Given the description of an element on the screen output the (x, y) to click on. 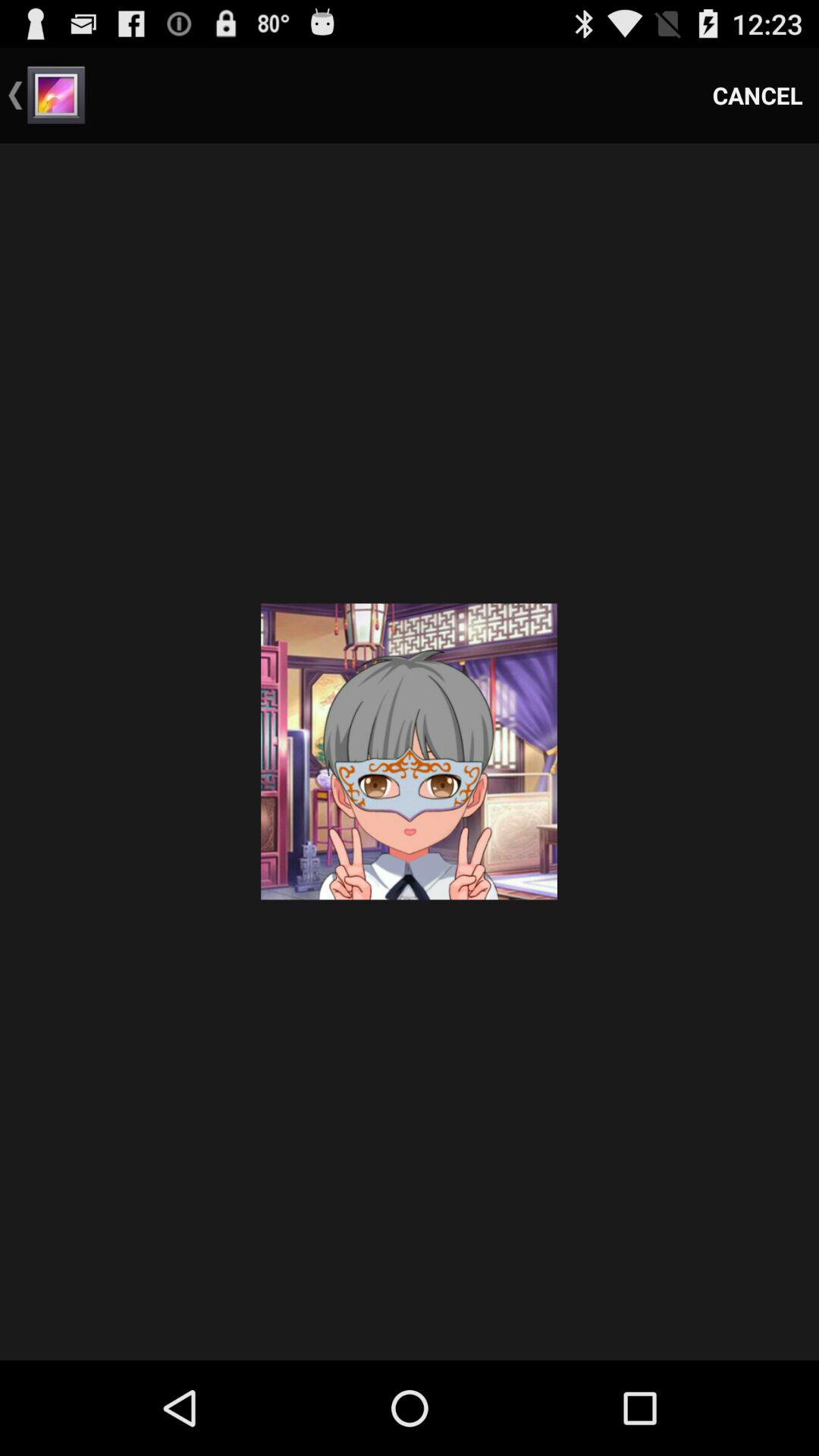
jump to cancel (757, 95)
